Given the description of an element on the screen output the (x, y) to click on. 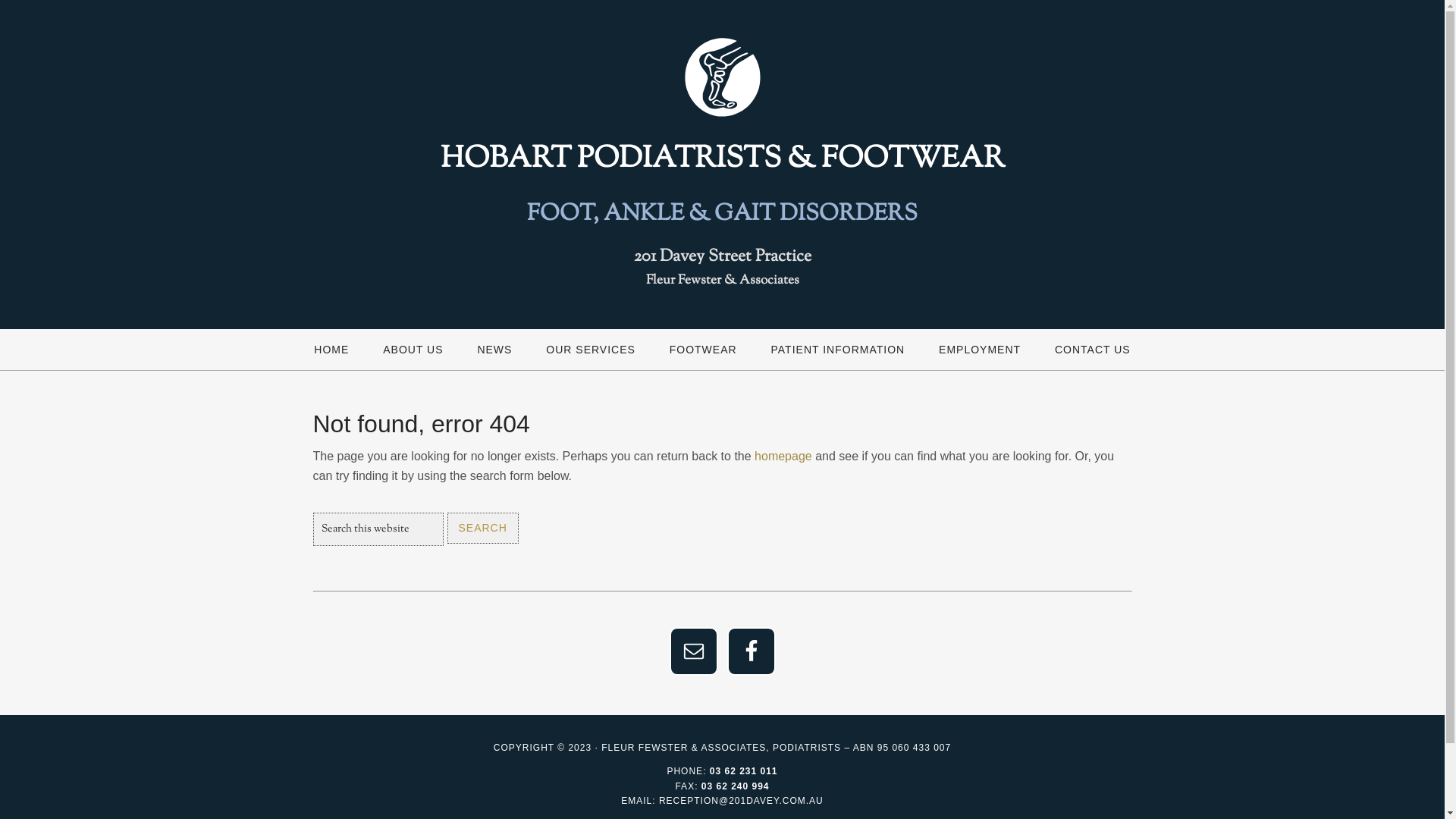
PATIENT INFORMATION Element type: text (838, 349)
FOOTWEAR Element type: text (703, 349)
HOME Element type: text (331, 349)
NEWS Element type: text (494, 349)
CONTACT US Element type: text (1092, 349)
EMPLOYMENT Element type: text (979, 349)
OUR SERVICES Element type: text (590, 349)
homepage Element type: text (783, 455)
Search Element type: text (482, 527)
RECEPTION@201DAVEY.COM.AU Element type: text (740, 800)
ABOUT US Element type: text (412, 349)
